Given the description of an element on the screen output the (x, y) to click on. 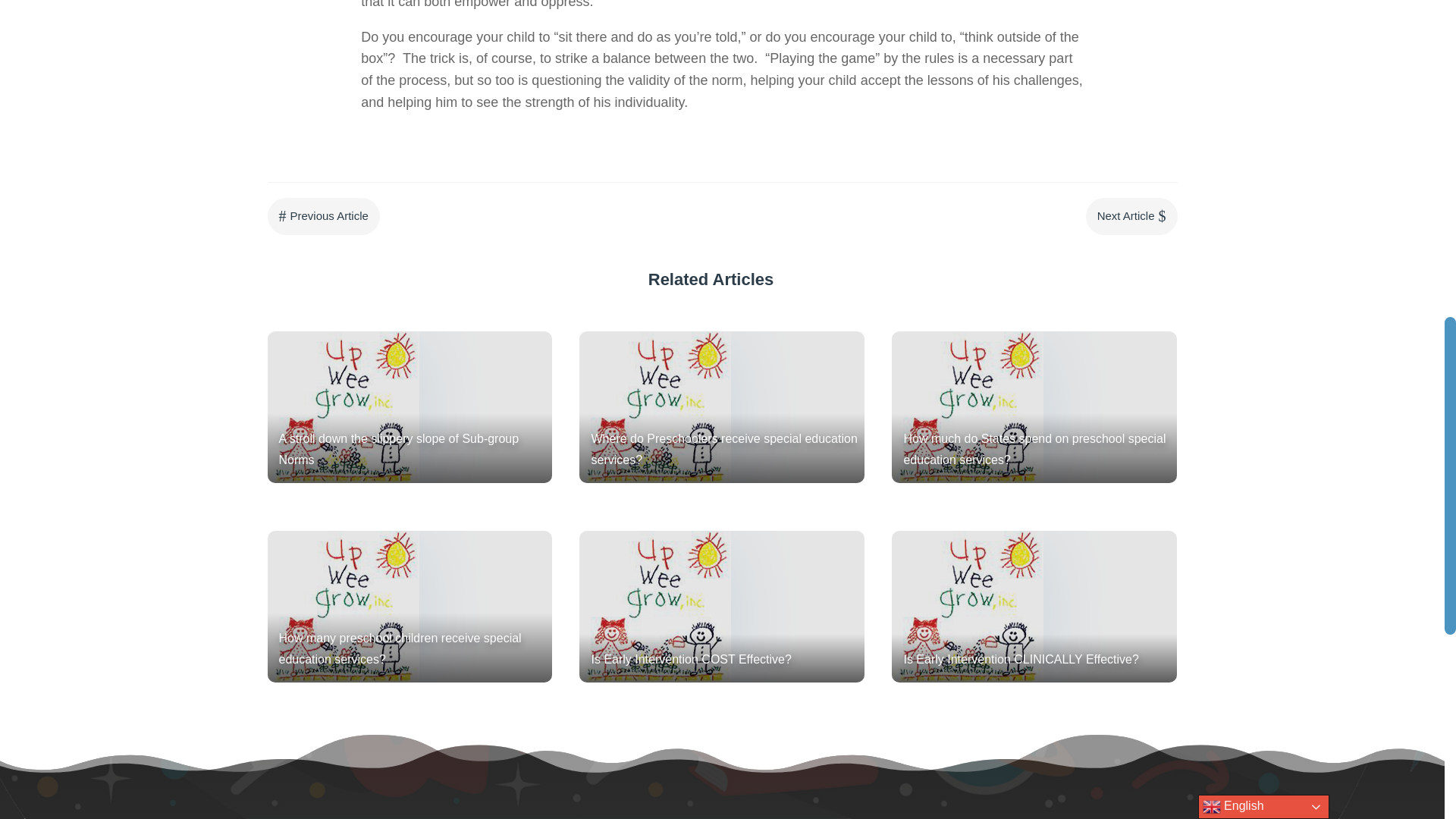
A stroll down the slippery slope of Sub-group Norms (408, 407)
Where do Preschoolers receive special education services? (721, 407)
Is Early Intervention COST Effective? (721, 606)
Is Early Intervention CLINICALLY Effective? (1033, 606)
